Given the description of an element on the screen output the (x, y) to click on. 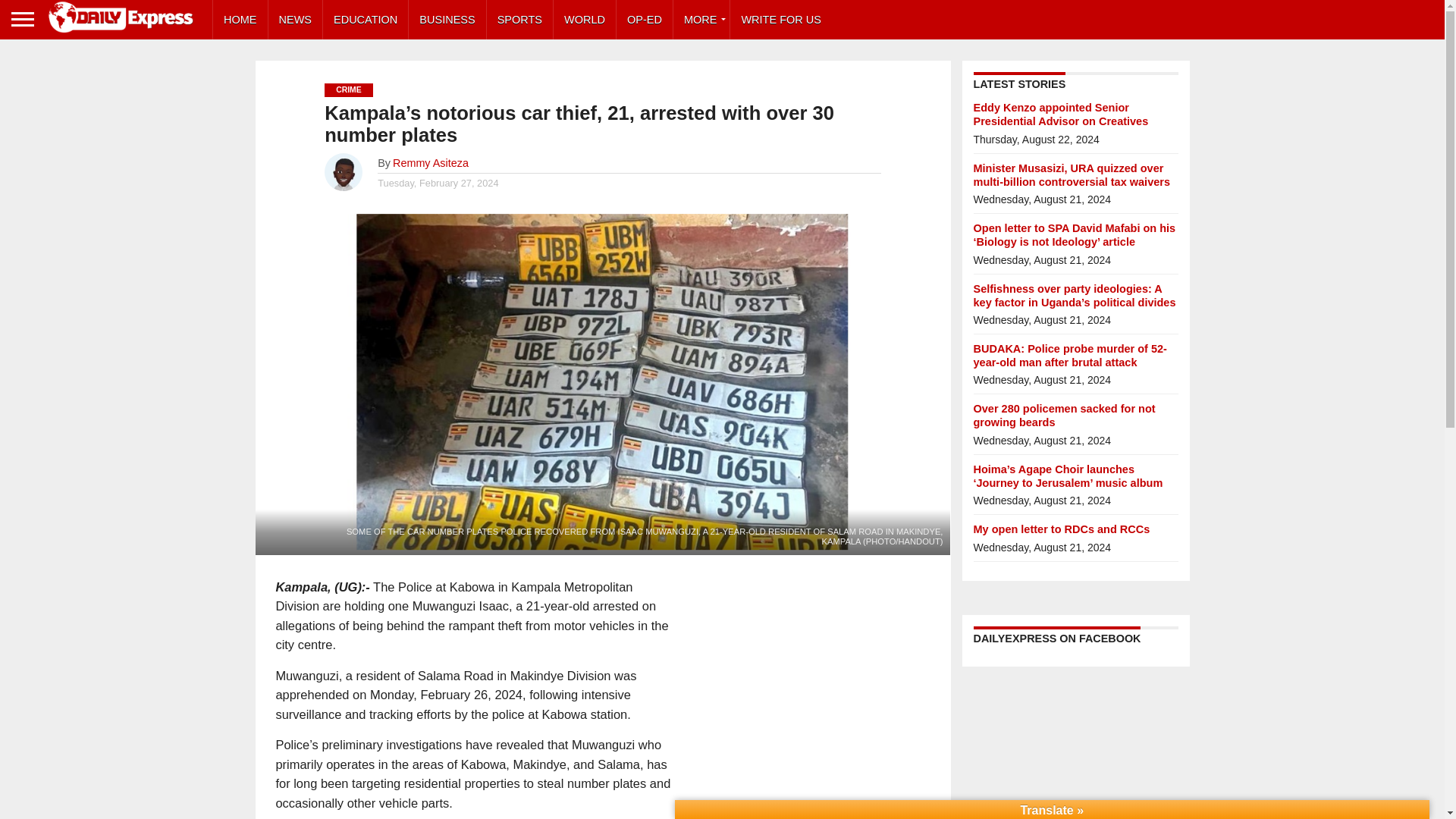
OP-ED (643, 19)
MORE (701, 19)
EDUCATION (365, 19)
WRITE FOR US (780, 19)
SPORTS (519, 19)
BUSINESS (446, 19)
WORLD (584, 19)
Posts by Remmy Asiteza (430, 162)
Remmy Asiteza (430, 162)
NEWS (295, 19)
